Given the description of an element on the screen output the (x, y) to click on. 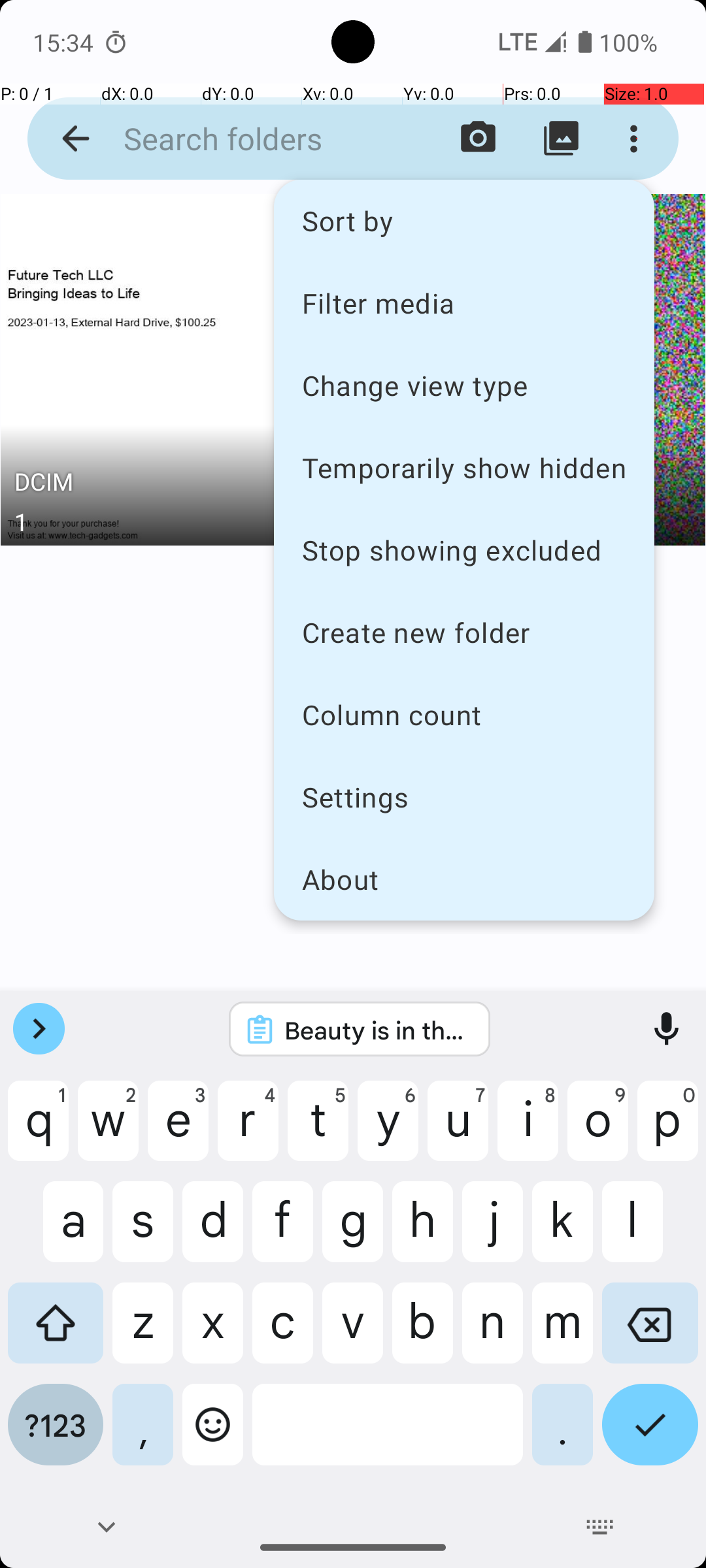
Filter media Element type: android.widget.TextView (463, 302)
Change view type Element type: android.widget.TextView (463, 384)
Temporarily show hidden Element type: android.widget.TextView (463, 467)
Stop showing excluded Element type: android.widget.TextView (463, 549)
Create new folder Element type: android.widget.TextView (463, 631)
Column count Element type: android.widget.TextView (463, 714)
